Given the description of an element on the screen output the (x, y) to click on. 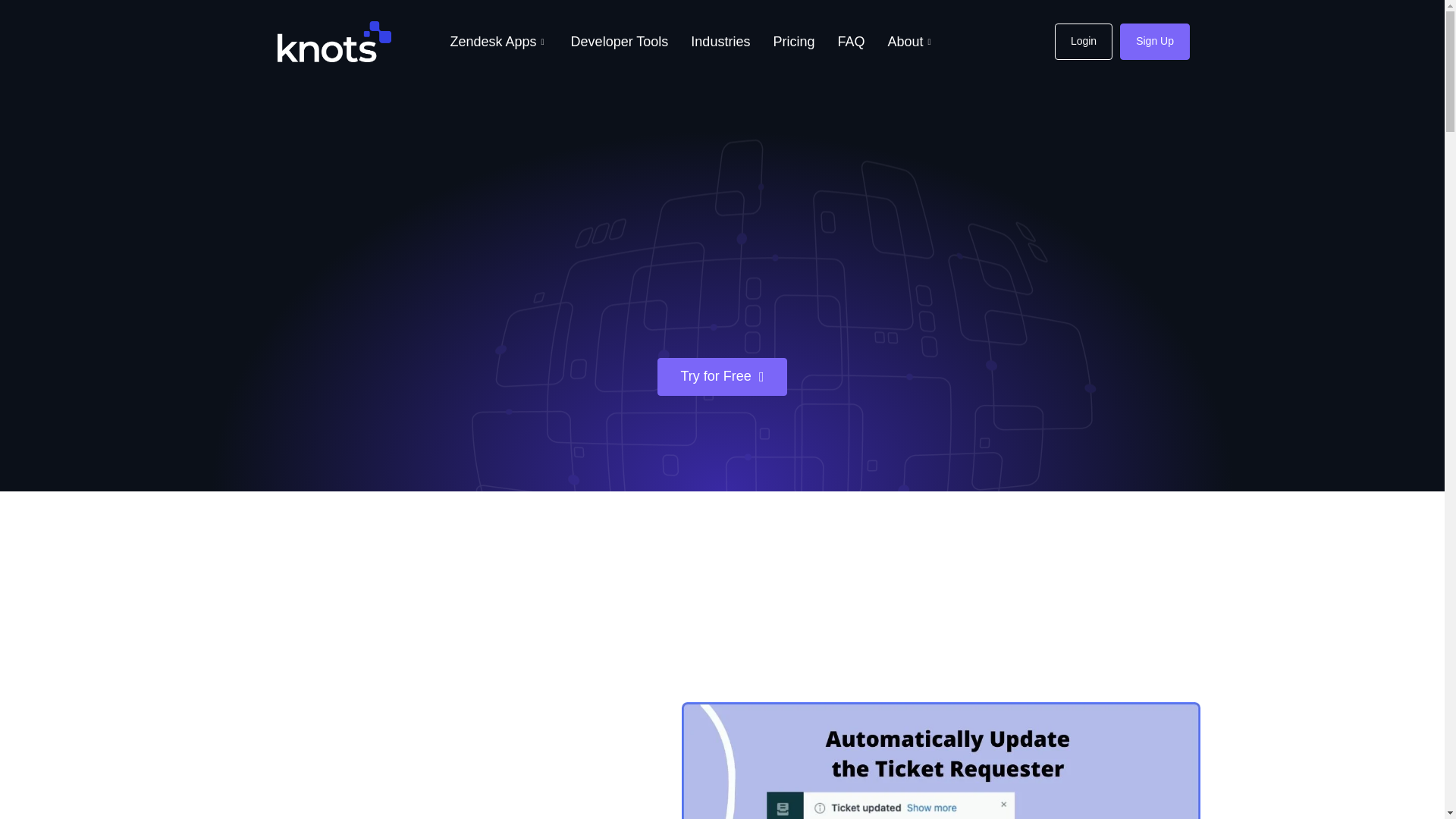
Login (1083, 40)
Industries (720, 41)
Zendesk Apps (498, 41)
About (910, 41)
Sign Up (1154, 40)
Developer Tools (619, 41)
Try for Free (722, 376)
Pricing (793, 41)
